Given the description of an element on the screen output the (x, y) to click on. 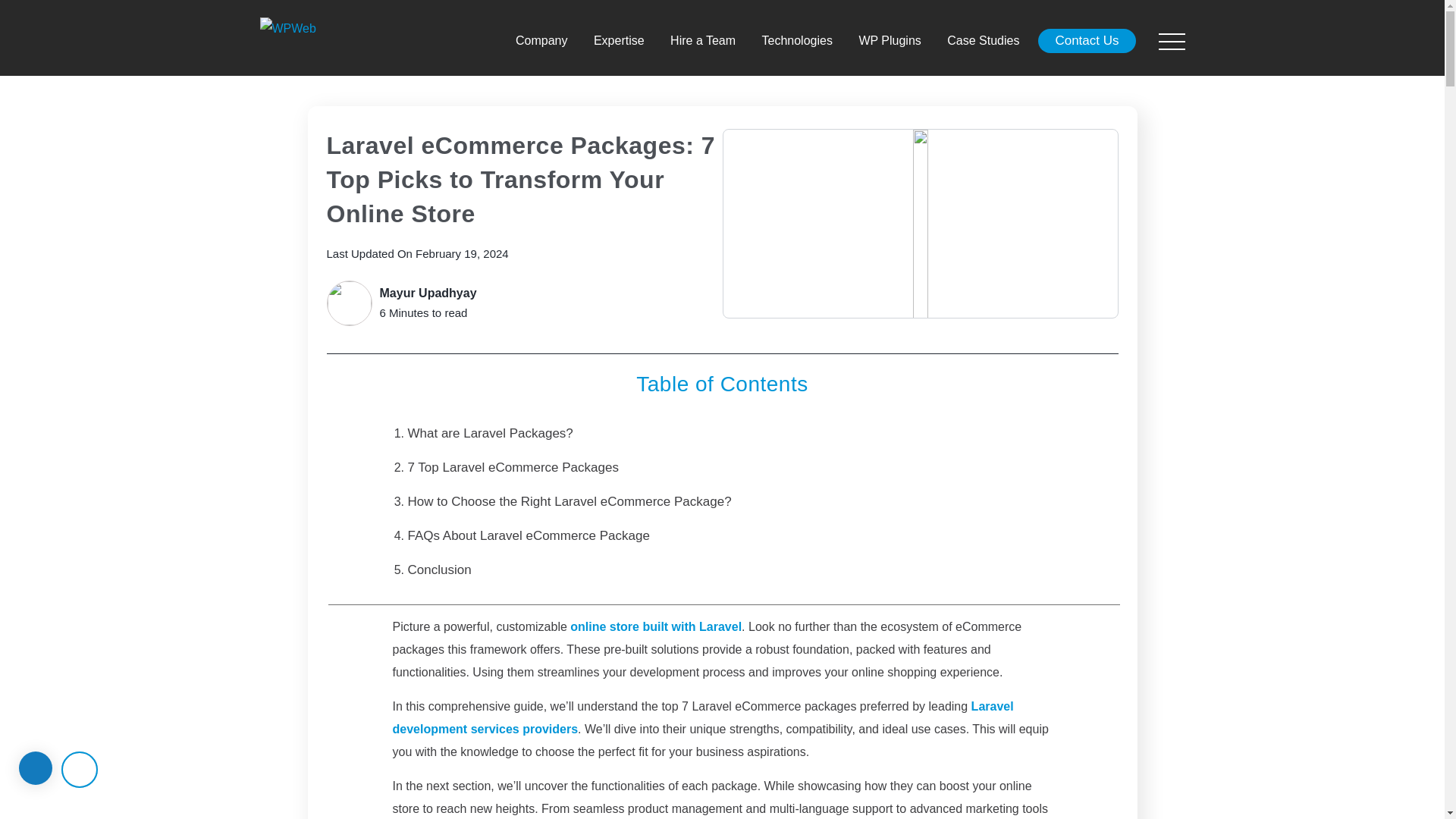
Hire a Team (702, 40)
Company (541, 40)
Expertise (619, 40)
